Given the description of an element on the screen output the (x, y) to click on. 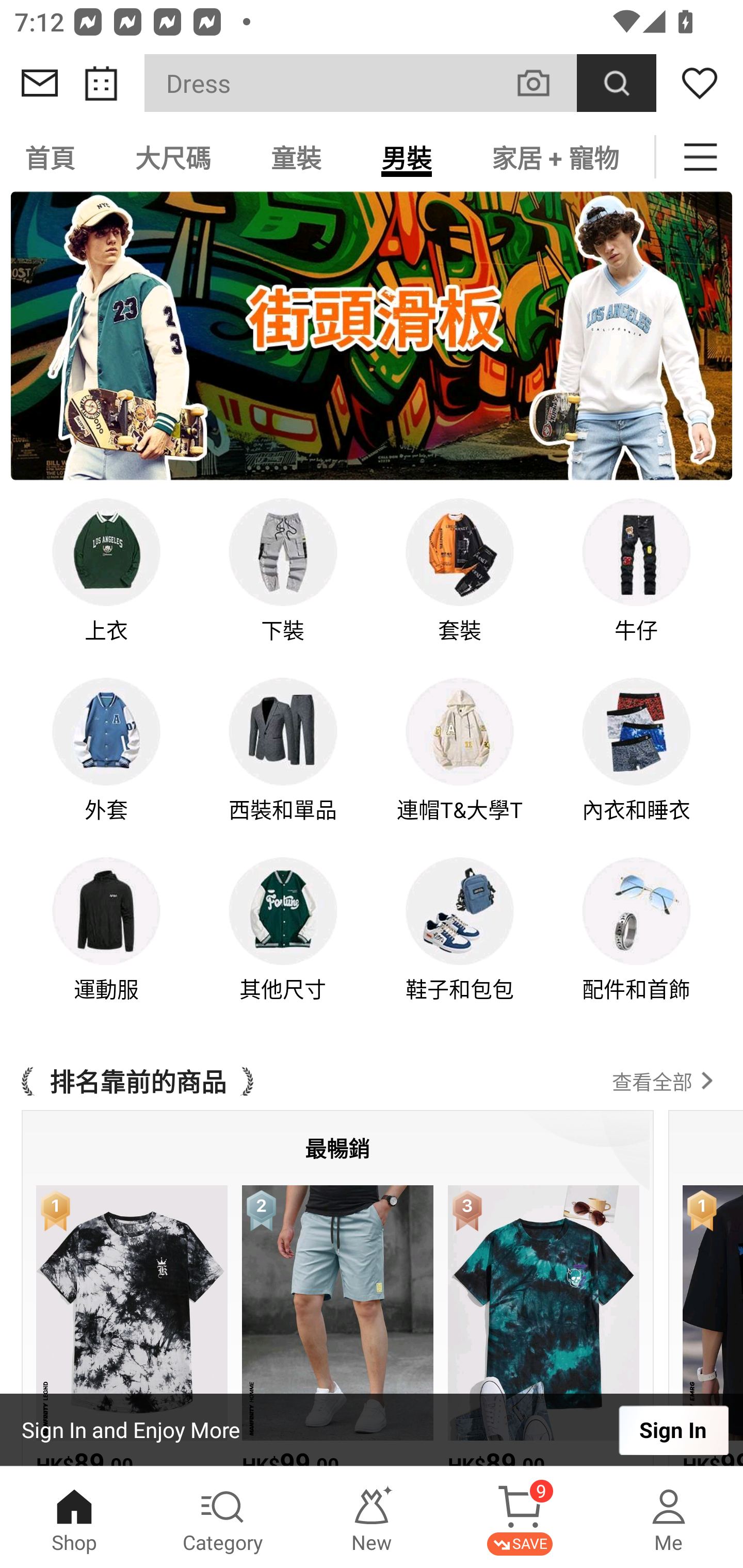
Wishlist (699, 82)
VISUAL SEARCH (543, 82)
首頁 (52, 156)
大尺碼 (172, 156)
童裝 (295, 156)
男裝 (406, 156)
家居 + 寵物 (555, 156)
上衣 (105, 584)
下裝 (282, 584)
套裝 (459, 584)
牛仔 (636, 584)
外套 (105, 763)
西裝和單品 (282, 763)
連帽T&大學T (459, 763)
內衣和睡衣 (636, 763)
運動服 (105, 943)
其他尺寸 (282, 943)
鞋子和包包 (459, 943)
配件和首飾 (636, 943)
Sign In and Enjoy More Sign In (371, 1429)
Category (222, 1517)
New (371, 1517)
Cart 9 SAVE (519, 1517)
Me (668, 1517)
